Given the description of an element on the screen output the (x, y) to click on. 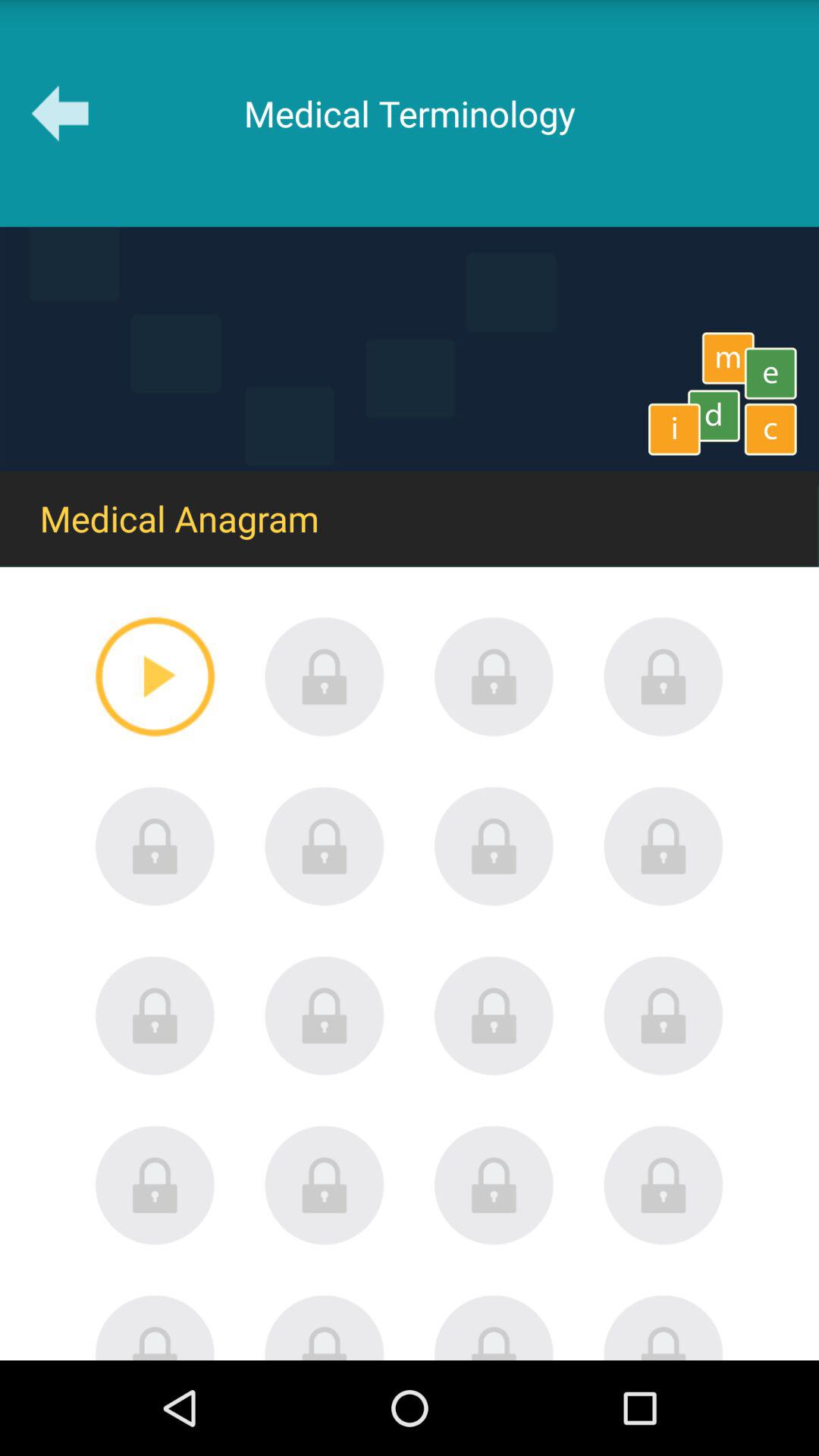
lock (154, 1184)
